Given the description of an element on the screen output the (x, y) to click on. 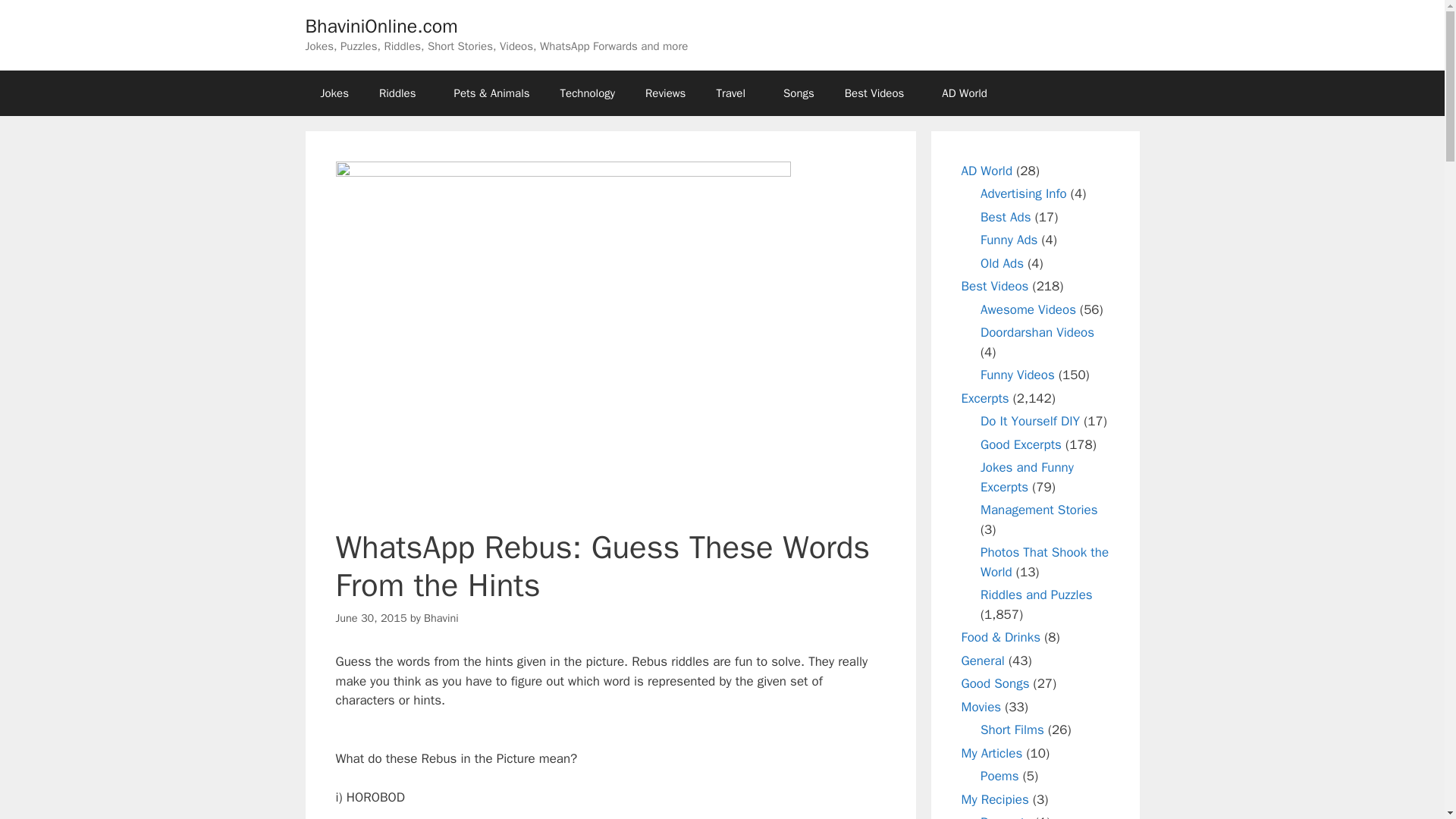
AD World (968, 92)
Travel (734, 92)
Reviews (665, 92)
View all posts by Bhavini (440, 617)
BhaviniOnline.com (380, 25)
Technology (587, 92)
Best Videos (878, 92)
Songs (798, 92)
Riddles (401, 92)
Jokes (333, 92)
Bhavini (440, 617)
